Given the description of an element on the screen output the (x, y) to click on. 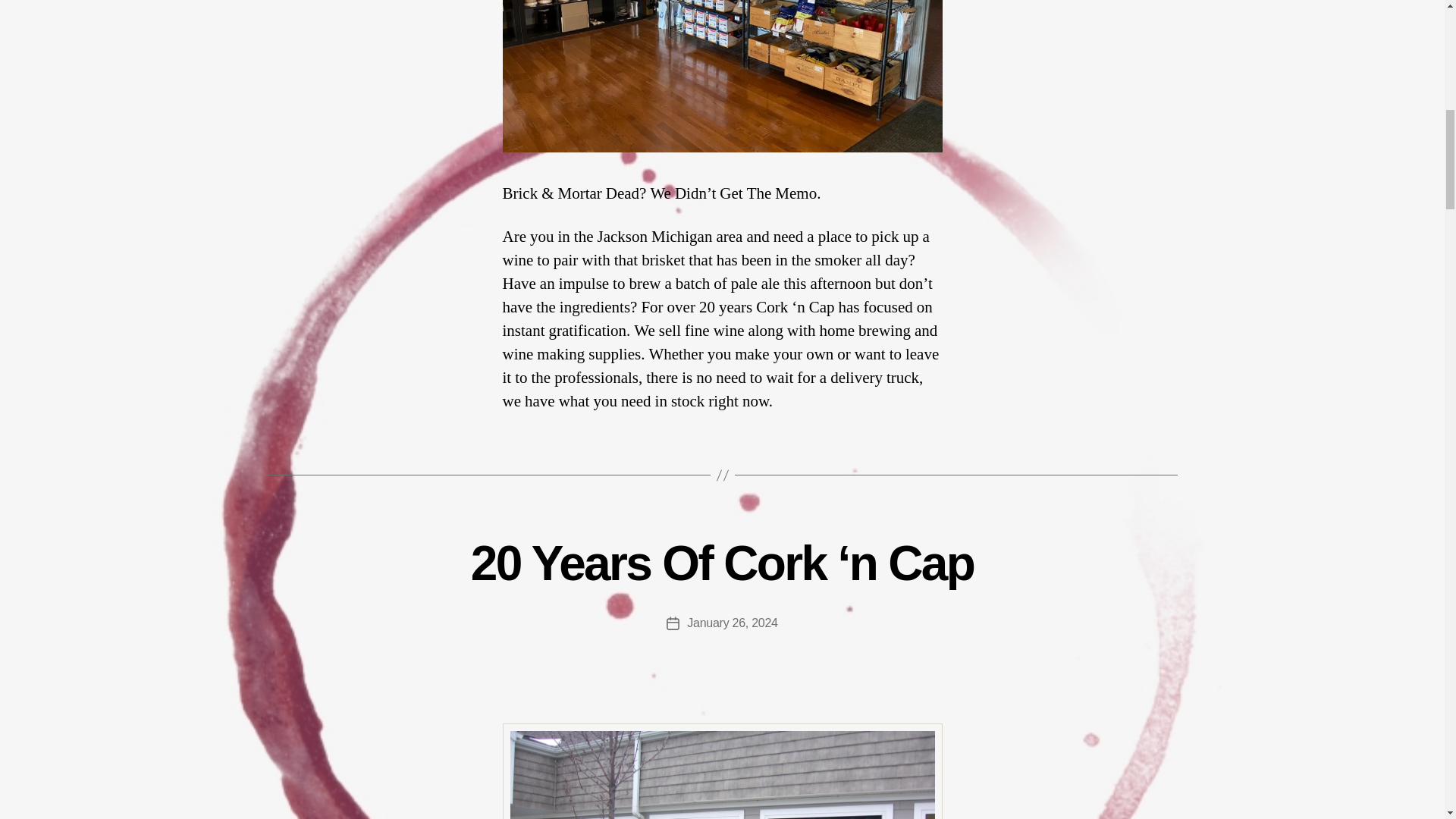
January 26, 2024 (732, 622)
